Given the description of an element on the screen output the (x, y) to click on. 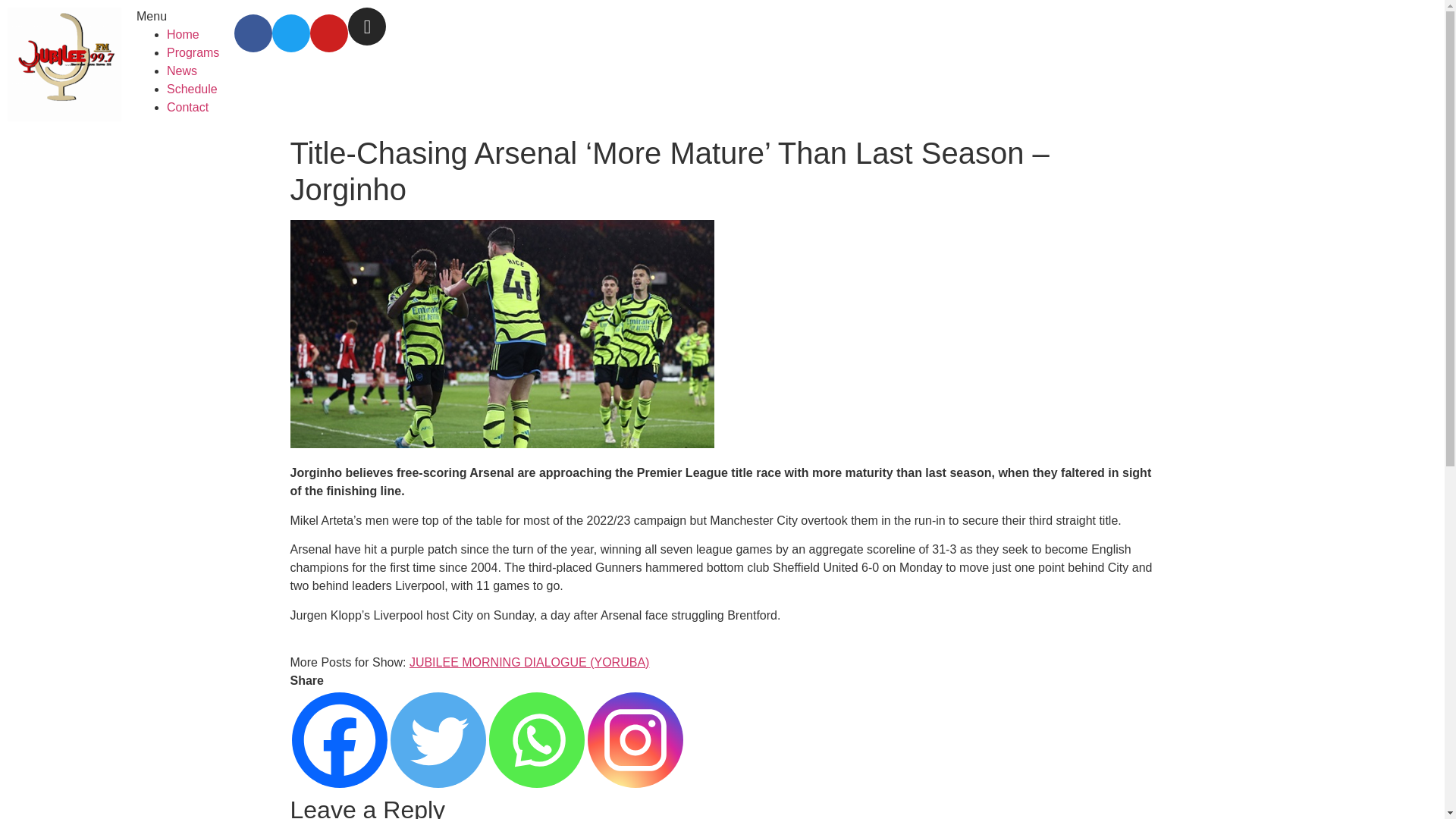
Whatsapp (535, 739)
Contact (187, 106)
Facebook (339, 739)
Instagram (634, 739)
News (181, 70)
Programs (193, 51)
Twitter (437, 739)
Home (183, 33)
Schedule (191, 88)
